Given the description of an element on the screen output the (x, y) to click on. 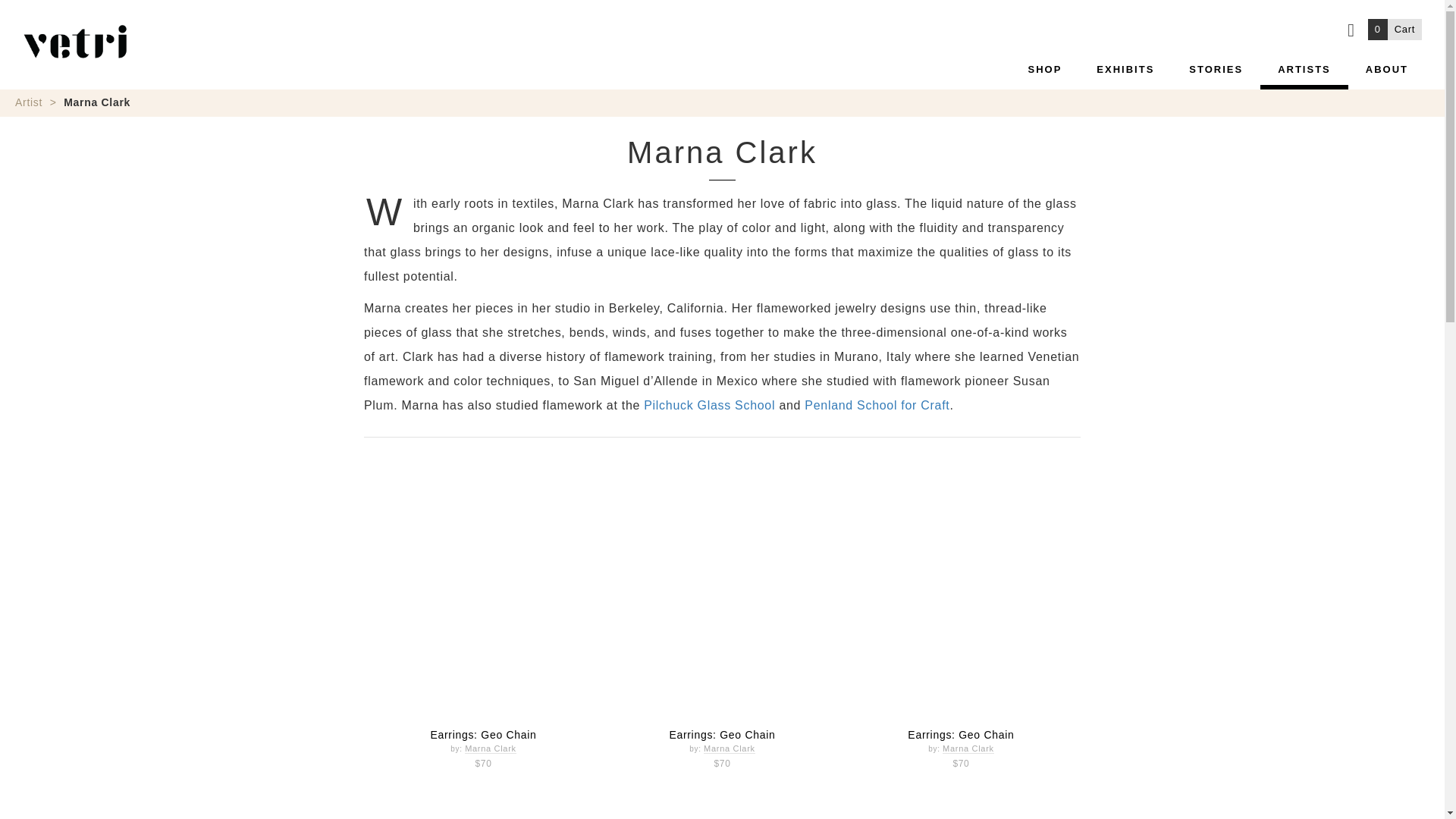
Marna Clark (490, 748)
Vetri Glass (75, 41)
SHOP (1395, 29)
Artist (1045, 66)
Marna Clark (28, 102)
ABOUT (968, 748)
ARTISTS (1386, 66)
View your shopping cart (1303, 66)
Marna Clark (1395, 29)
